Given the description of an element on the screen output the (x, y) to click on. 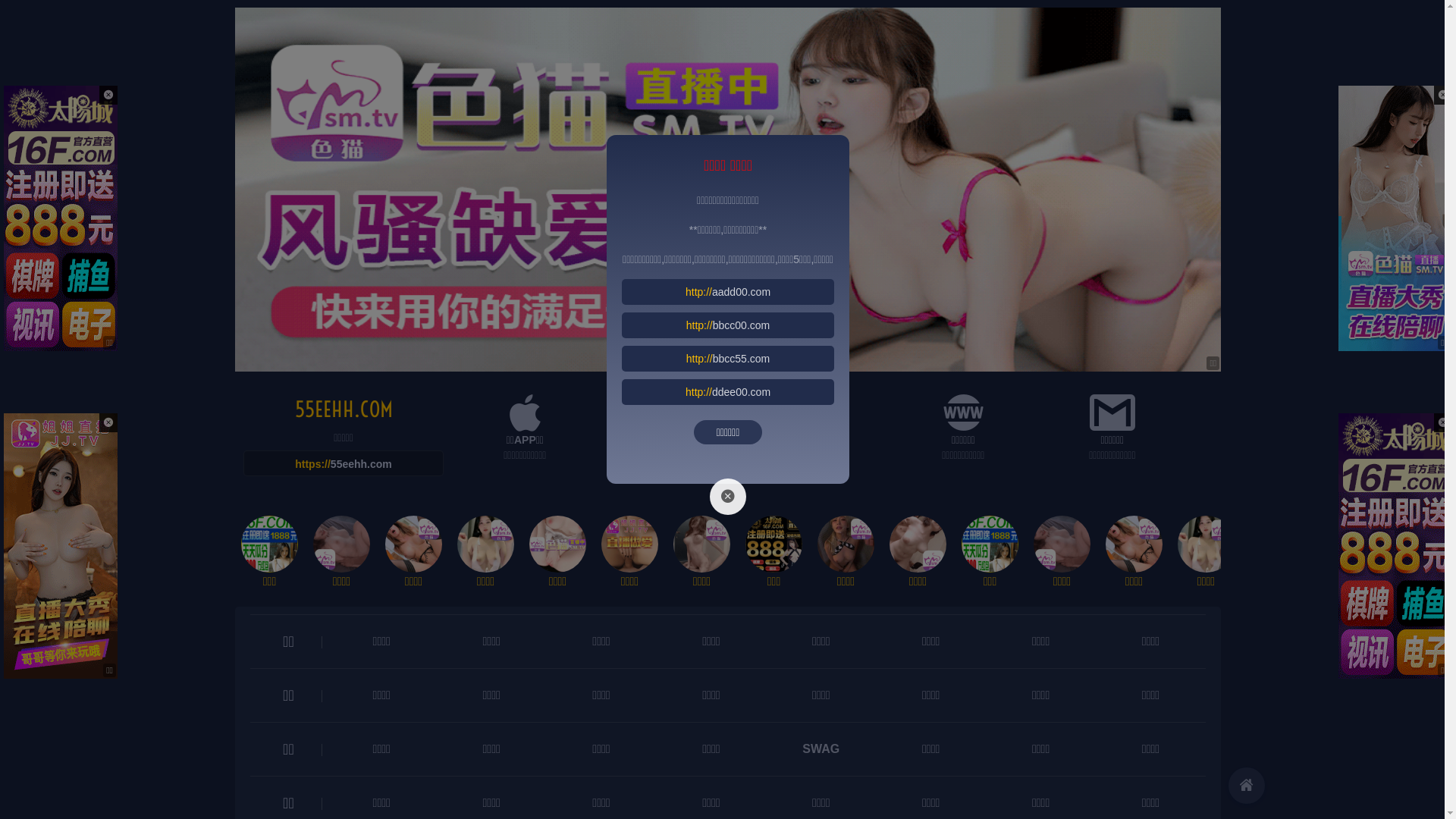
http://aadd00.com Element type: text (727, 291)
SWAG Element type: text (820, 748)
http://bbcc00.com Element type: text (727, 325)
http://bbcc55.com Element type: text (727, 358)
http://ddee00.com Element type: text (727, 391)
55EEHH.COM Element type: text (343, 408)
